Given the description of an element on the screen output the (x, y) to click on. 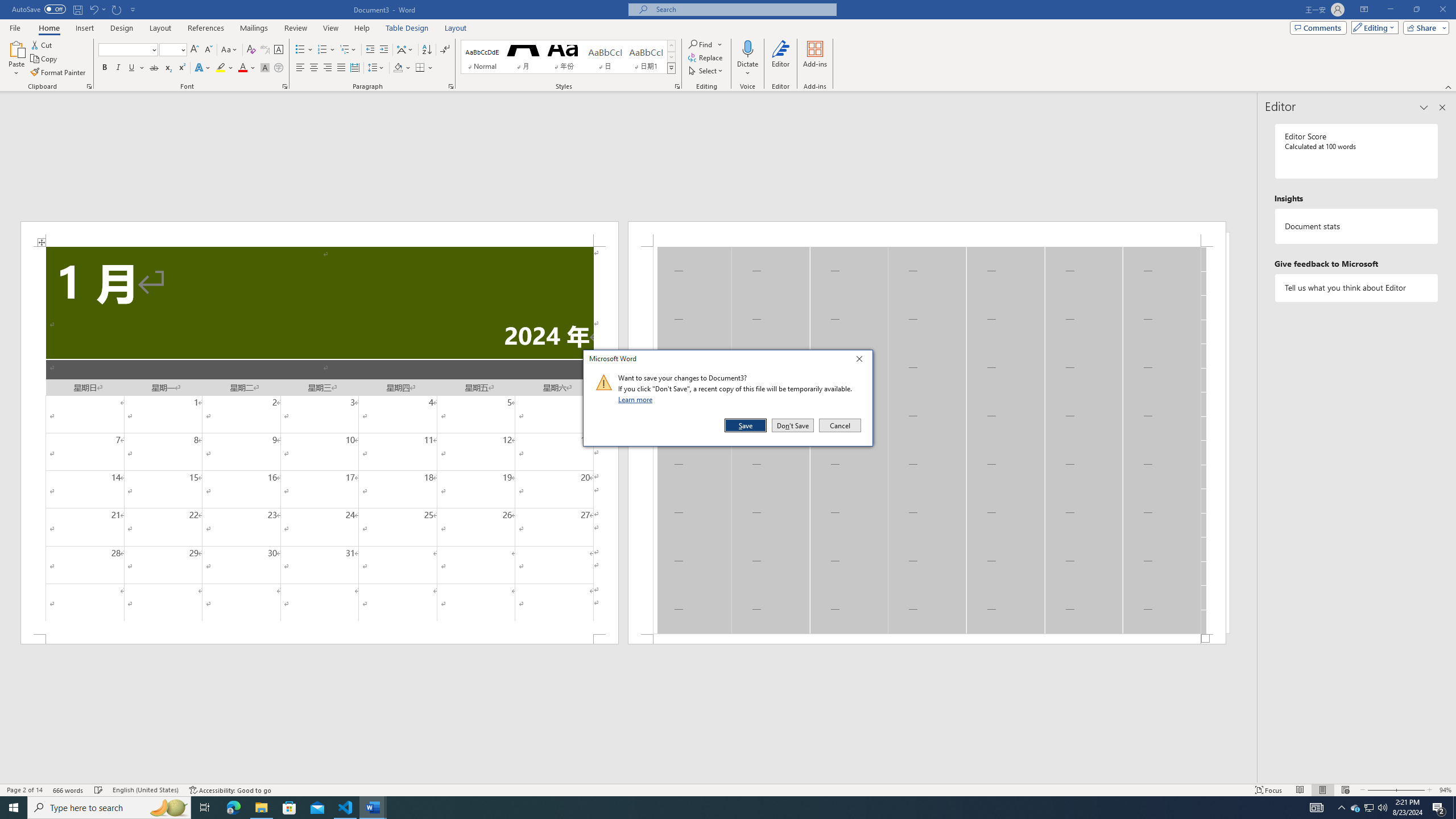
Cancel (839, 425)
Learn more (636, 399)
